Given the description of an element on the screen output the (x, y) to click on. 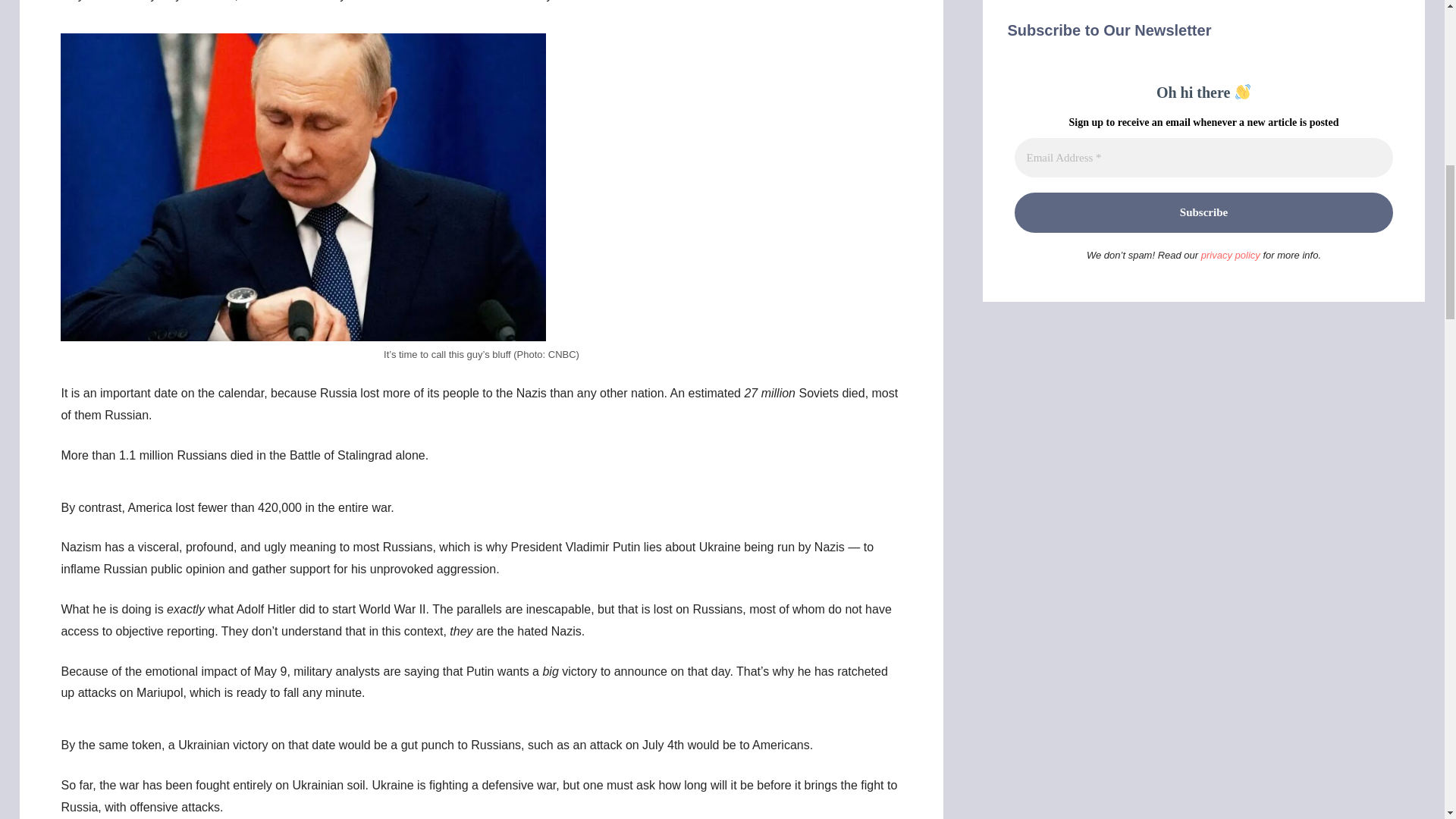
privacy policy (1230, 255)
Subscribe (1202, 212)
Subscribe (1202, 212)
Email Address (1202, 158)
